Given the description of an element on the screen output the (x, y) to click on. 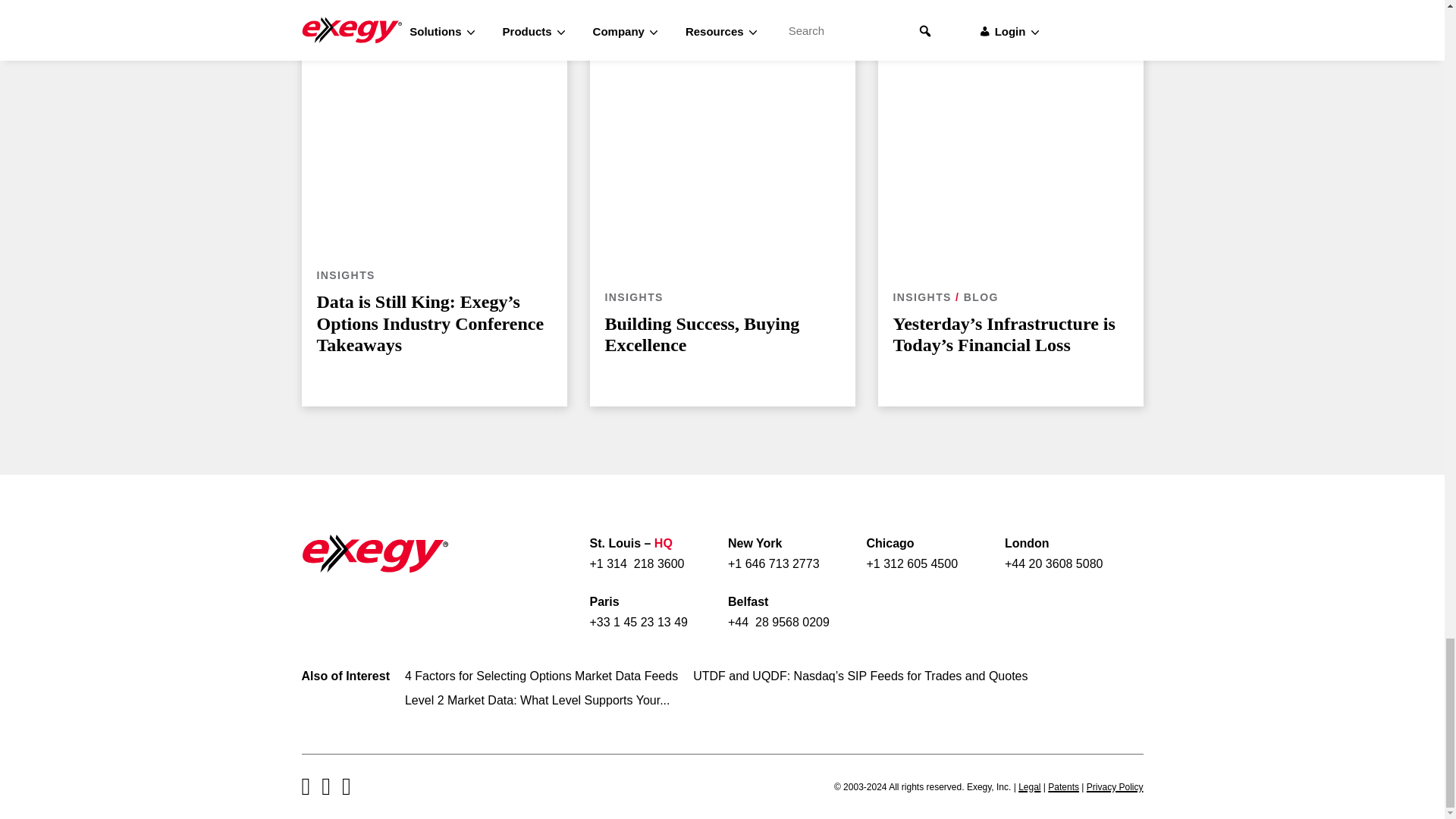
Building Success, Buying Excellence (722, 148)
Exegy (374, 553)
